Given the description of an element on the screen output the (x, y) to click on. 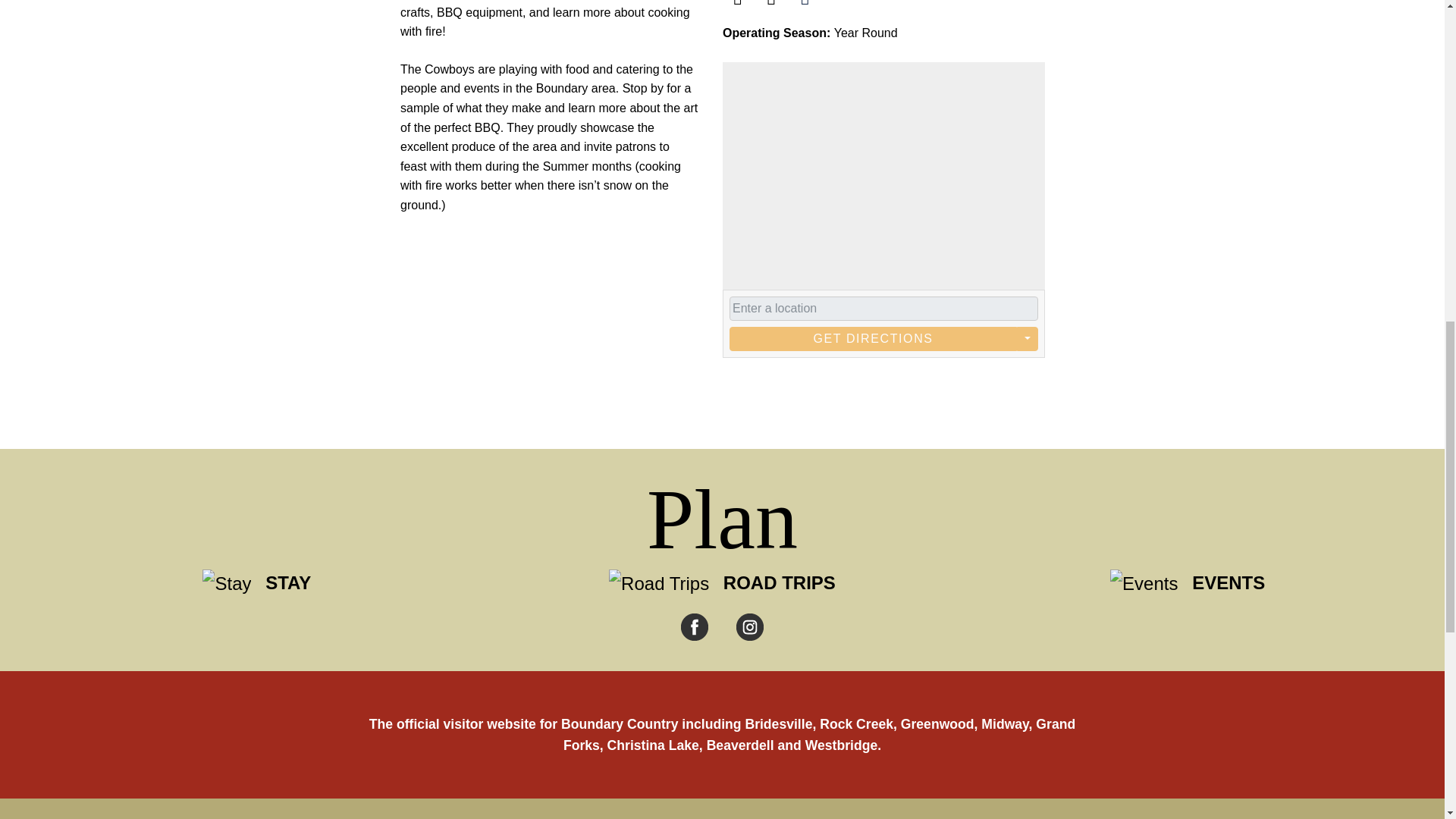
Instagram (770, 2)
Facebook (737, 2)
